Given the description of an element on the screen output the (x, y) to click on. 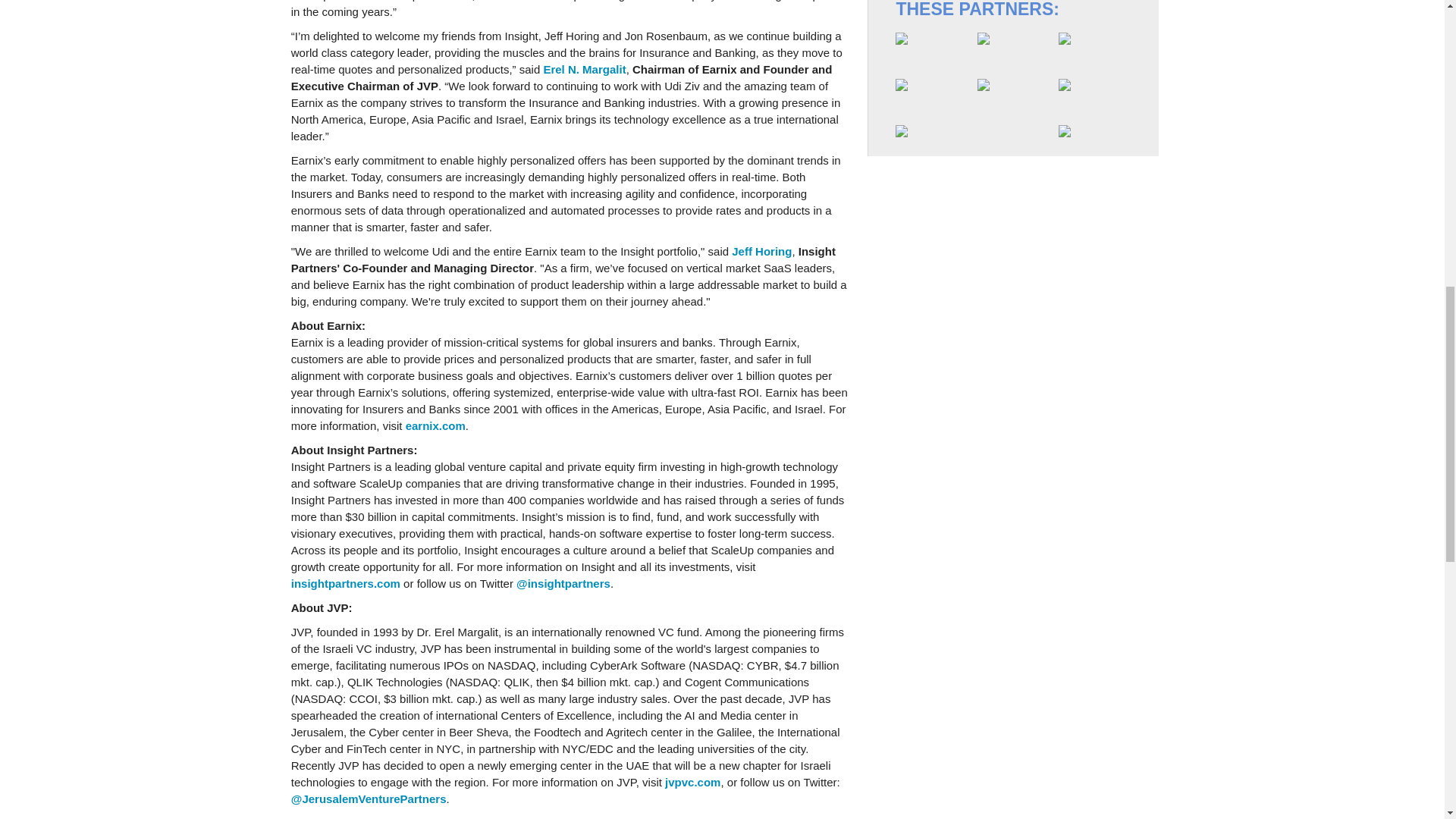
Jeff Horing (762, 250)
Erel N. Margalit (584, 69)
earnix.com (435, 425)
insightpartners.com (345, 583)
jvpvc.com (692, 781)
